Given the description of an element on the screen output the (x, y) to click on. 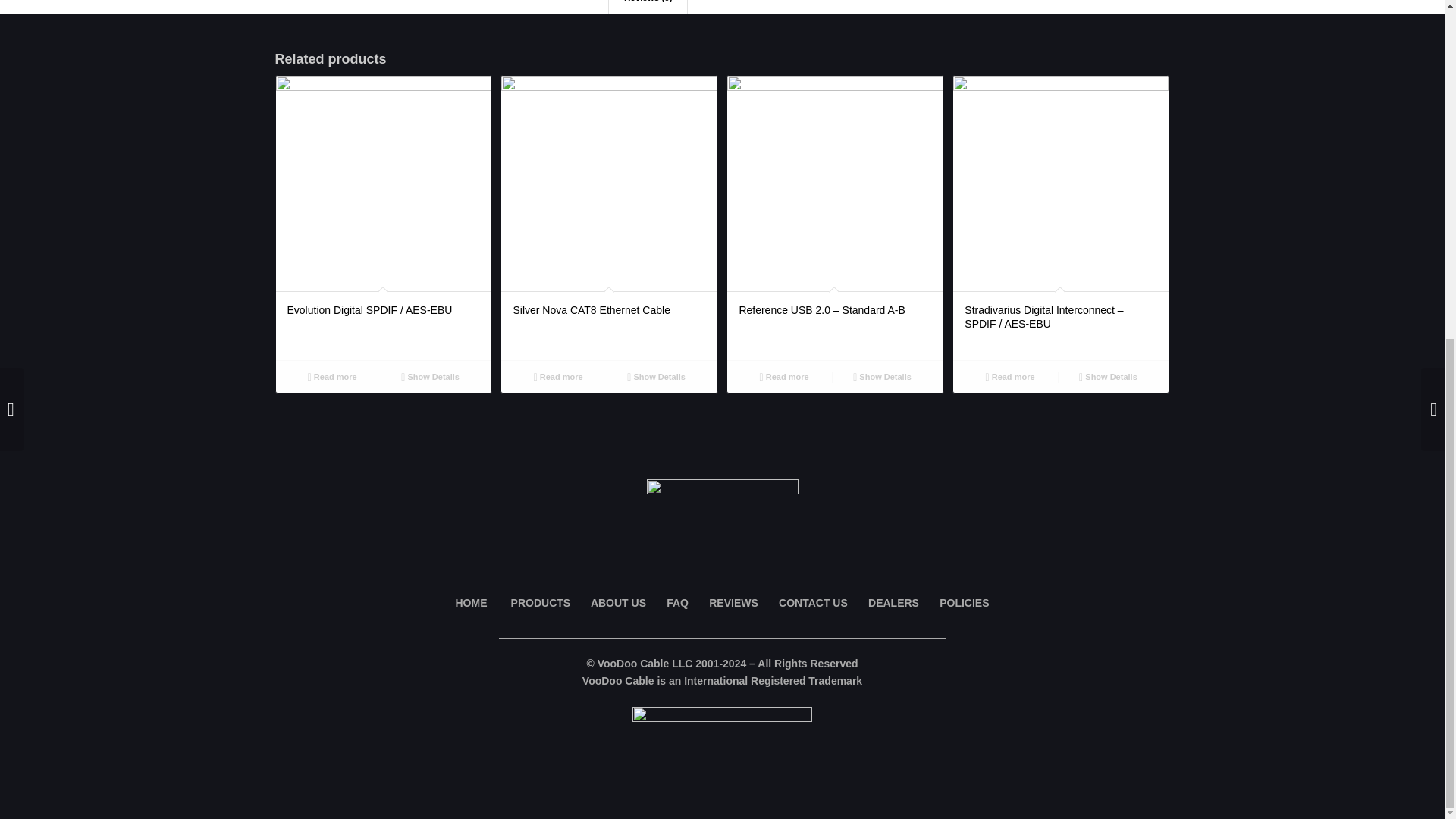
Read more (557, 376)
FAQ (677, 603)
HOME (470, 603)
Show Details (655, 376)
Show Details (881, 376)
Read more (1009, 376)
ABOUT US (618, 603)
PRODUCTS (540, 603)
Read more (783, 376)
Show Details (430, 376)
Show Details (1108, 376)
Read more (332, 376)
